Given the description of an element on the screen output the (x, y) to click on. 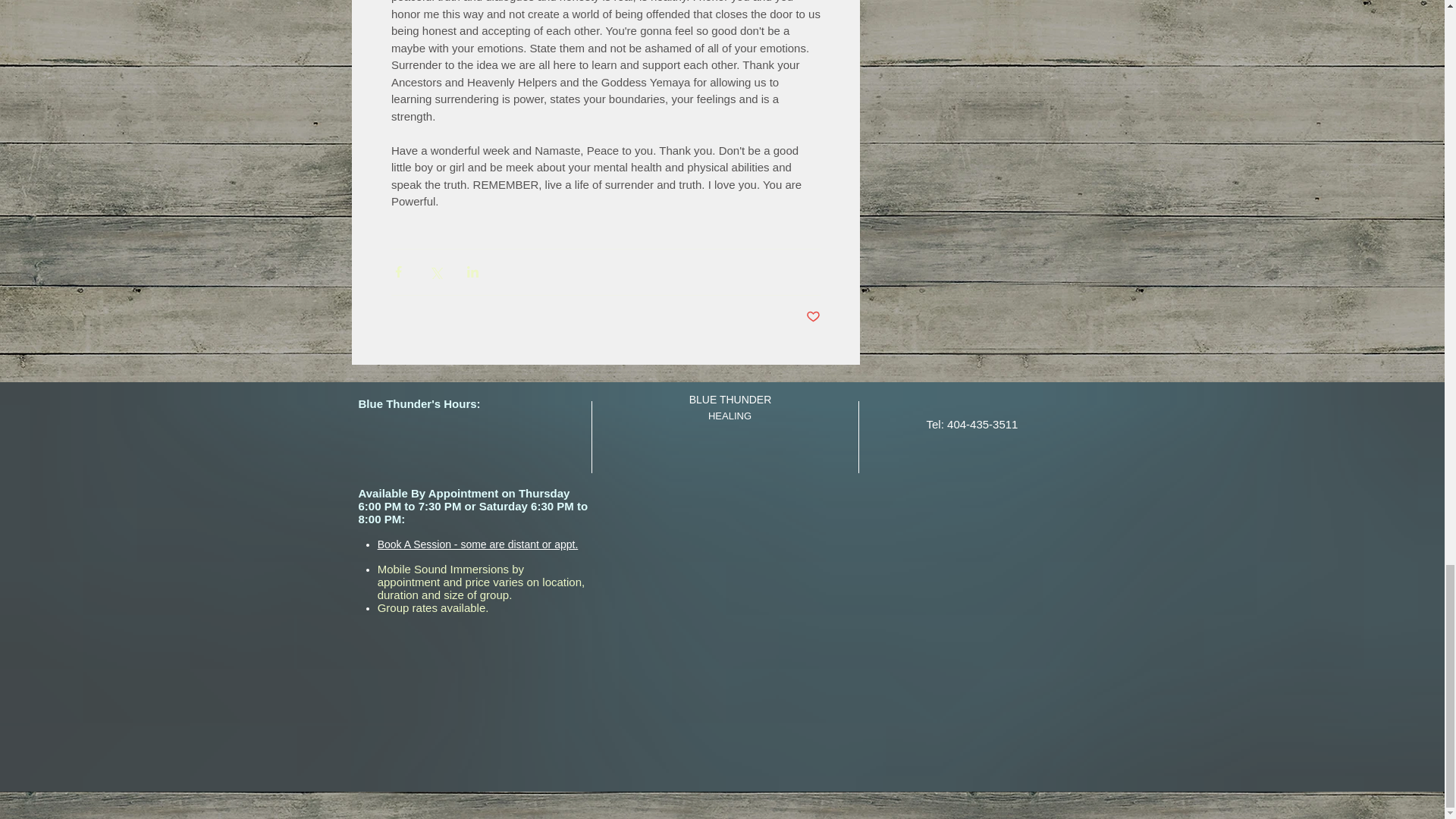
Post not marked as liked (812, 317)
